Given the description of an element on the screen output the (x, y) to click on. 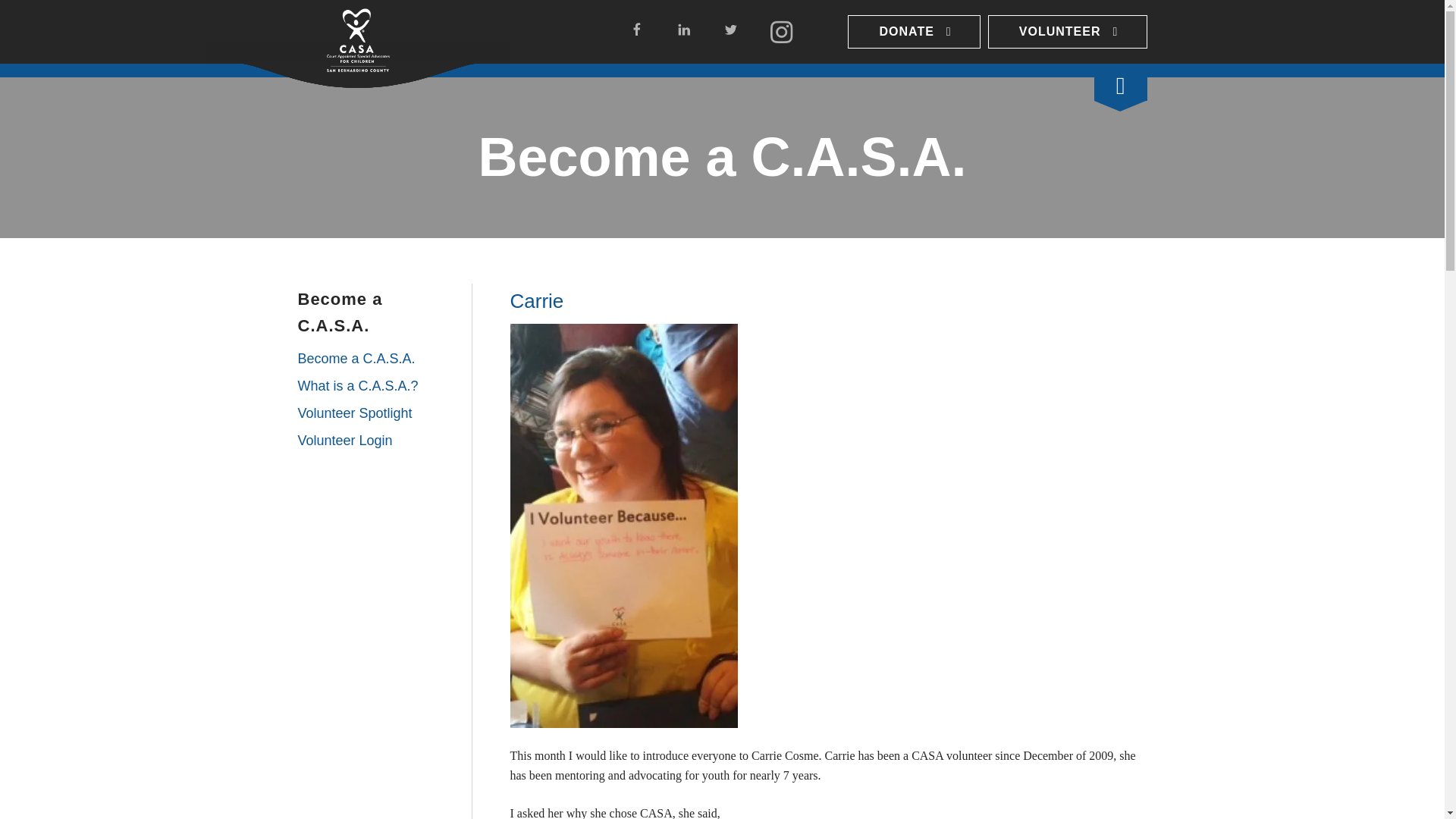
What is a C.A.S.A.? (376, 386)
DONATE (913, 31)
Volunteer Login (376, 440)
Volunteer Spotlight (376, 413)
VOLUNTEER (1067, 31)
Become a C.A.S.A. (376, 359)
